Given the description of an element on the screen output the (x, y) to click on. 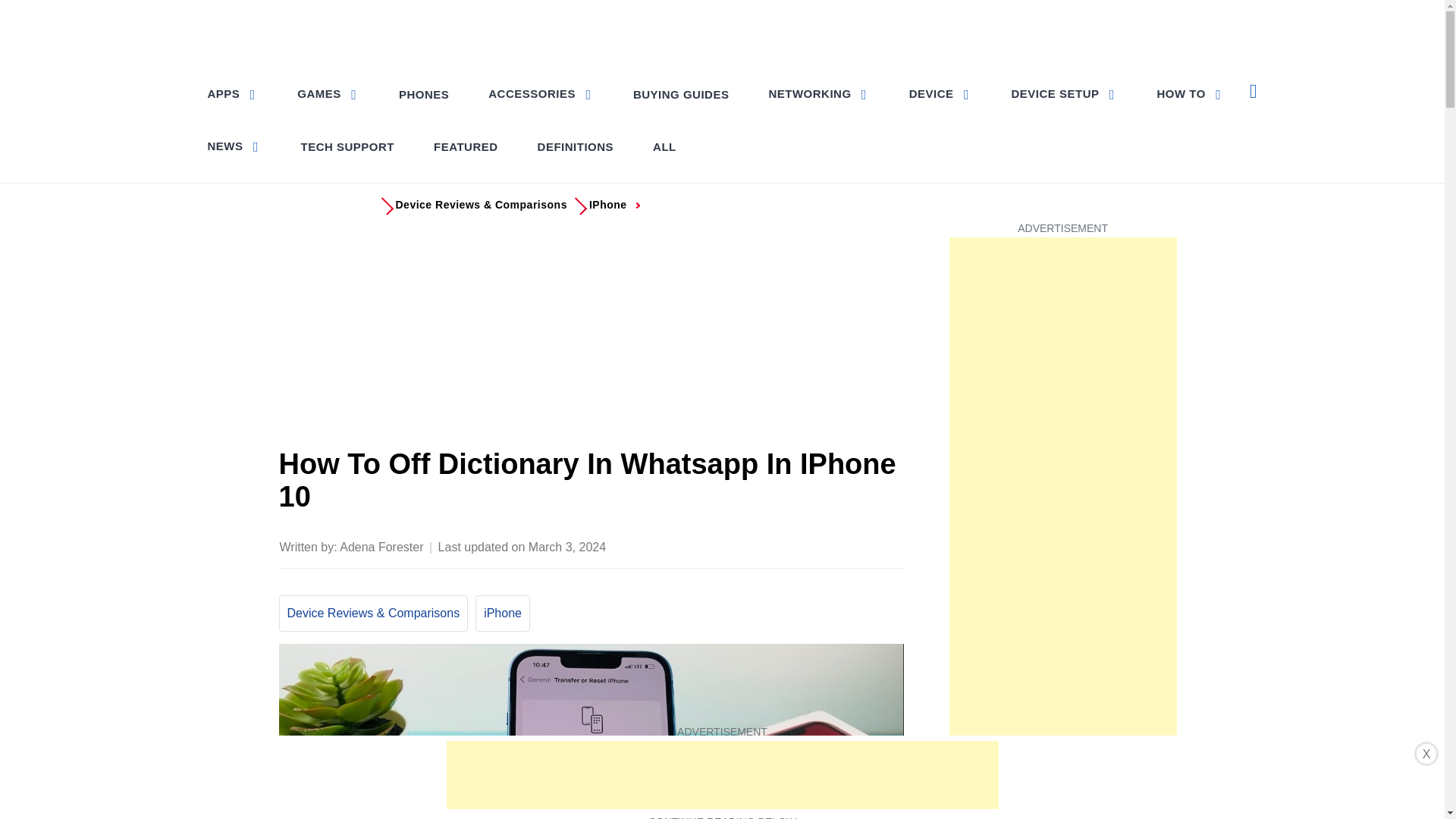
DEVICE (940, 93)
Mail the Link (890, 544)
APPS (233, 93)
Share on facebook (740, 544)
NETWORKING (818, 93)
Share on twitter (769, 544)
Share on Whatsapp (829, 544)
ACCESSORIES (540, 93)
Copy to Clipboard (860, 544)
GAMES (327, 93)
